Given the description of an element on the screen output the (x, y) to click on. 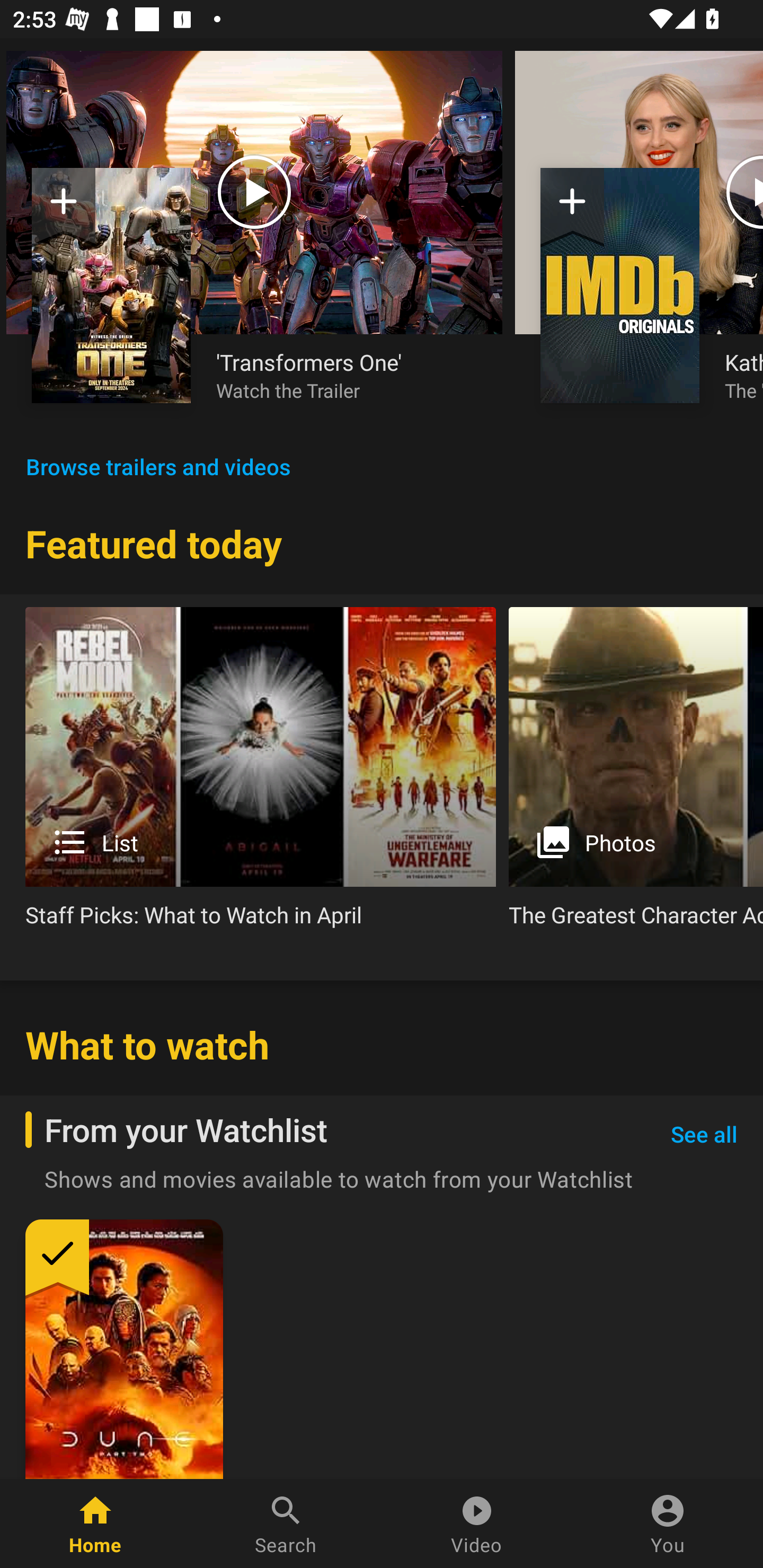
Not in watchlist (111, 284)
Not in watchlist (63, 207)
Not in watchlist (619, 284)
Not in watchlist (572, 207)
'Transformers One' Watch the Trailer (345, 374)
List Staff Picks: What to Watch in April (260, 774)
Photos The Greatest Character Actors of All Time (635, 774)
See all See all From your Watchlist (703, 1134)
Search (285, 1523)
Video (476, 1523)
You (667, 1523)
